Given the description of an element on the screen output the (x, y) to click on. 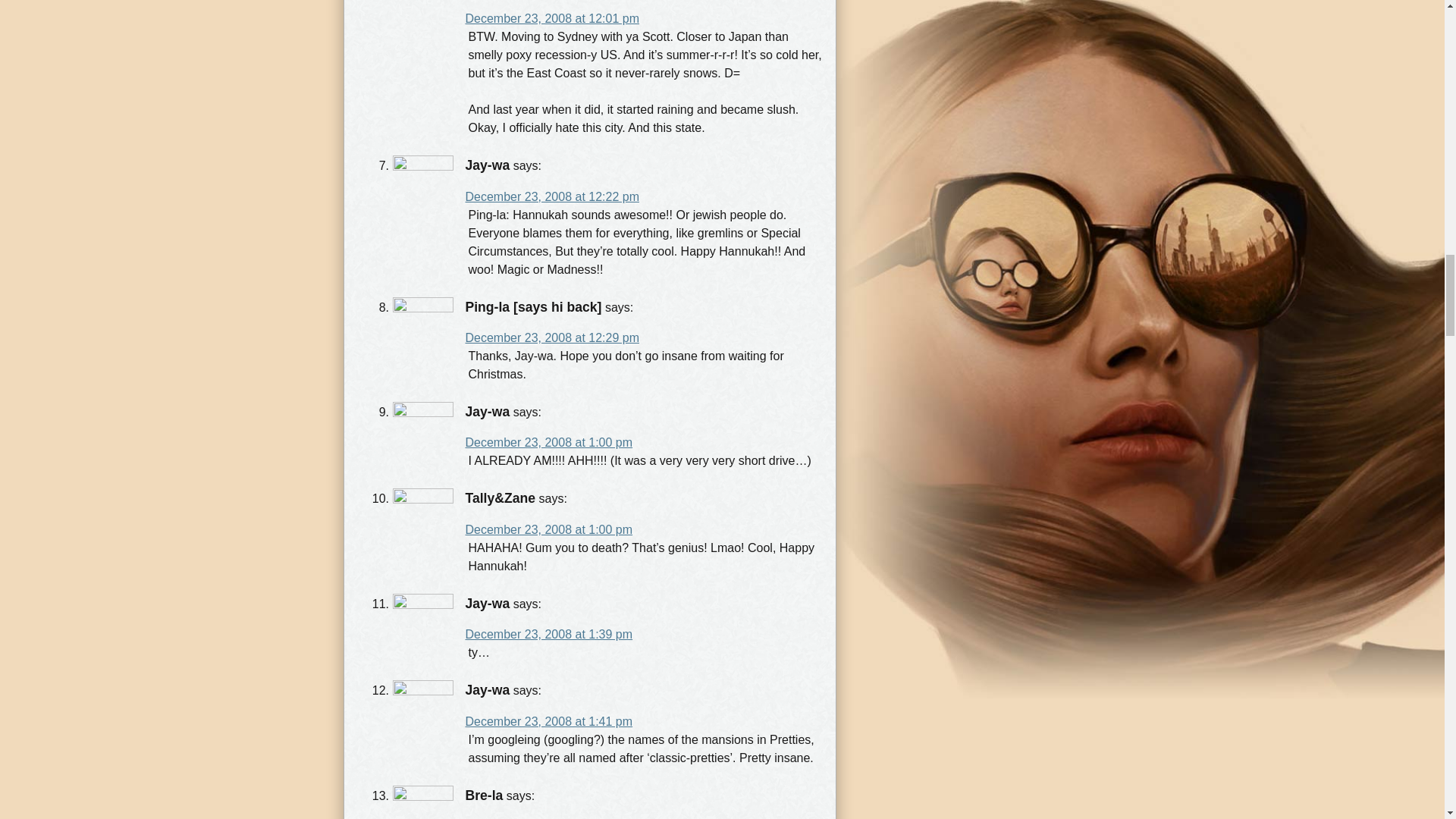
December 23, 2008 at 1:41 pm (549, 721)
December 23, 2008 at 1:00 pm (549, 441)
December 23, 2008 at 12:01 pm (552, 18)
December 23, 2008 at 12:29 pm (552, 337)
December 23, 2008 at 1:39 pm (549, 634)
December 23, 2008 at 12:22 pm (552, 196)
December 23, 2008 at 1:00 pm (549, 529)
